Given the description of an element on the screen output the (x, y) to click on. 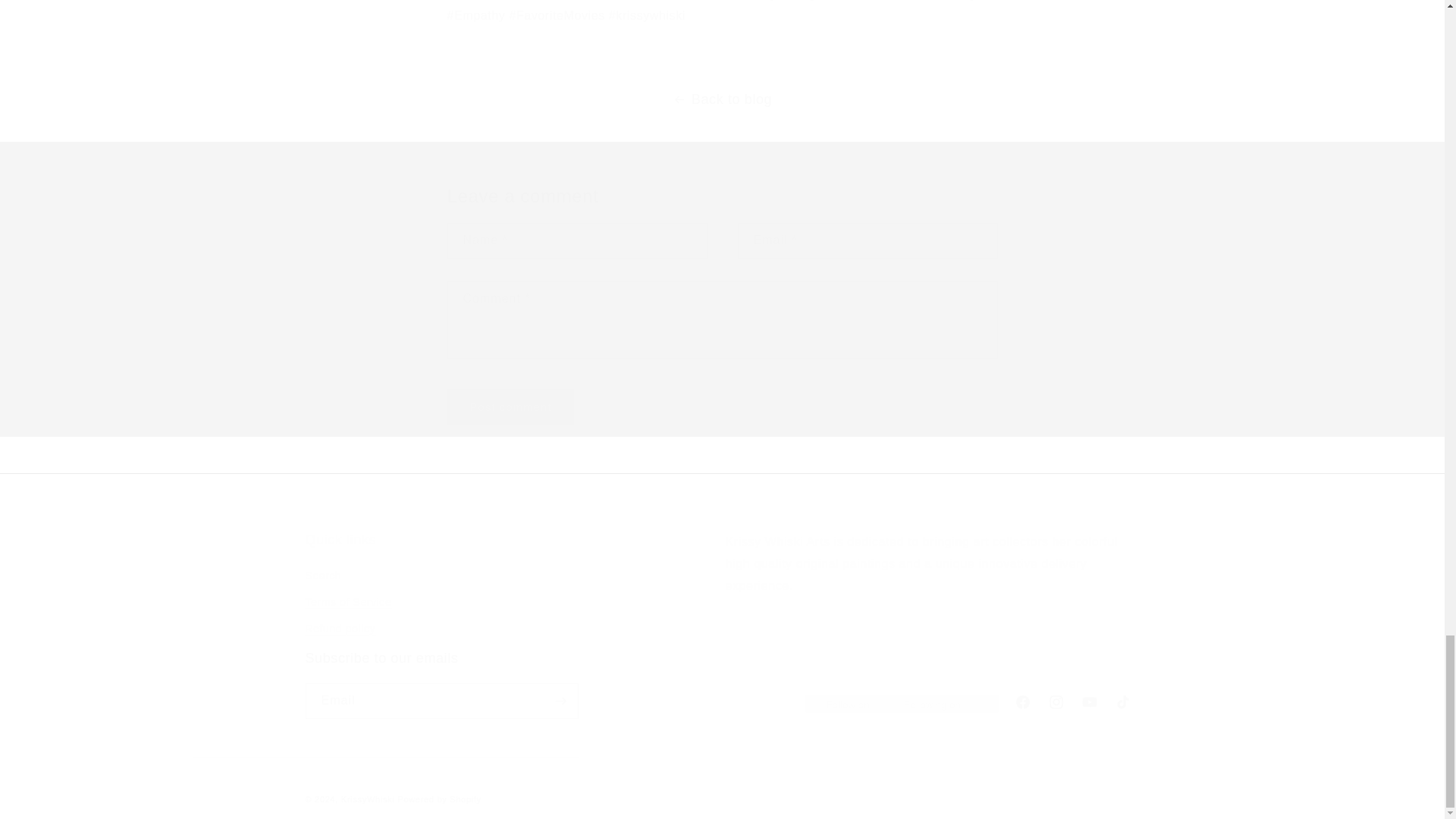
Post comment (510, 407)
